Given the description of an element on the screen output the (x, y) to click on. 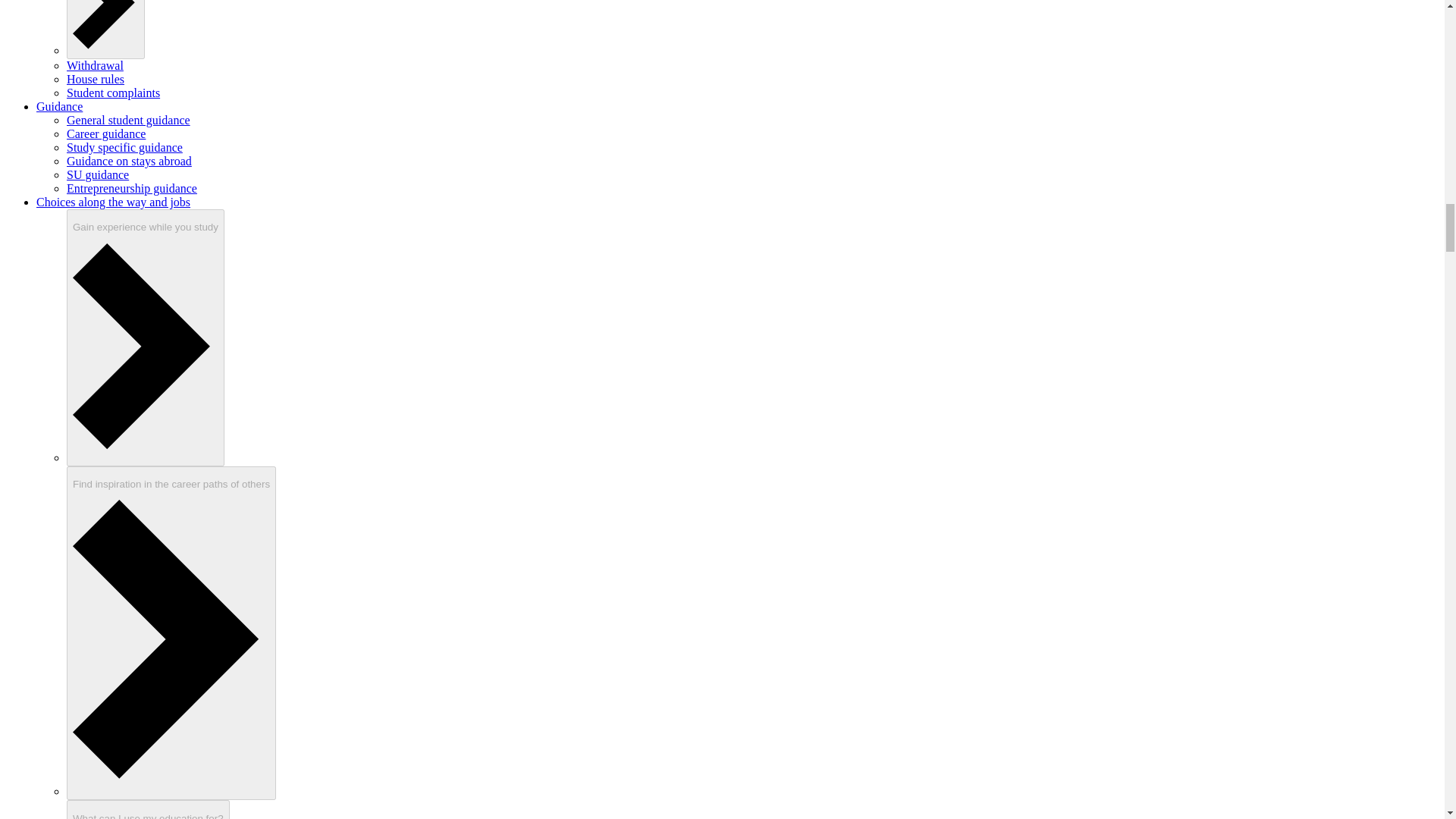
Withdrawal (94, 65)
Guidance (59, 106)
Entrepreneurship guidance (131, 187)
Career guidance (105, 133)
Student complaints (113, 92)
House rules (94, 78)
Withdrawal (94, 65)
Taking a break (105, 29)
Guidance (59, 106)
House rules (94, 78)
